Given the description of an element on the screen output the (x, y) to click on. 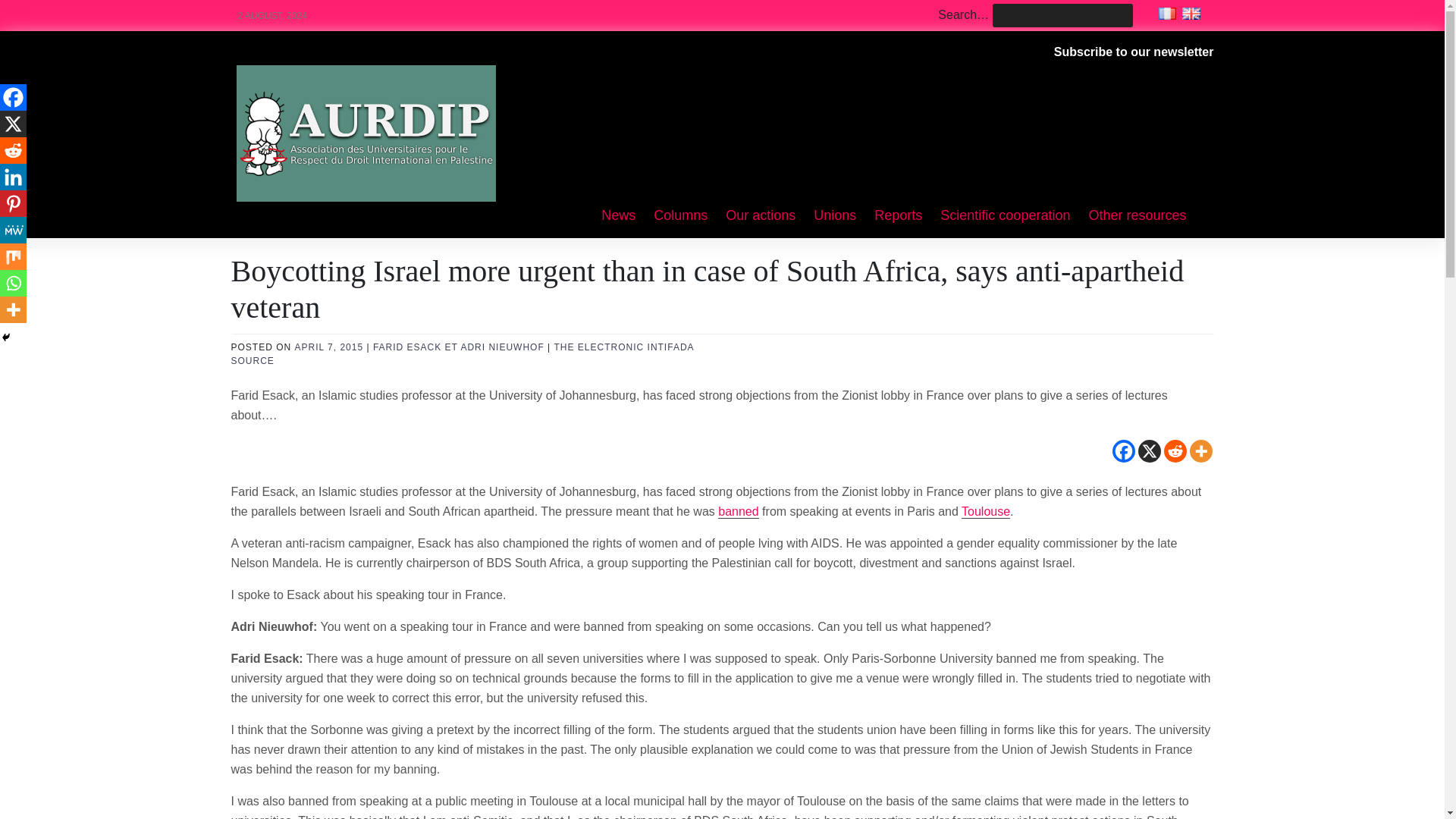
News (618, 215)
Reports (897, 215)
Subscribe to our newsletter (1134, 51)
Toulouse (985, 511)
THE ELECTRONIC INTIFADA (624, 347)
X (1148, 450)
FARID ESACK ET ADRI NIEUWHOF (458, 347)
Facebook (1123, 450)
Scientific cooperation (1004, 215)
Linkedin (13, 176)
Our actions (760, 215)
Other resources (1136, 215)
Whatsapp (13, 283)
Search (32, 12)
Unions (834, 215)
